Given the description of an element on the screen output the (x, y) to click on. 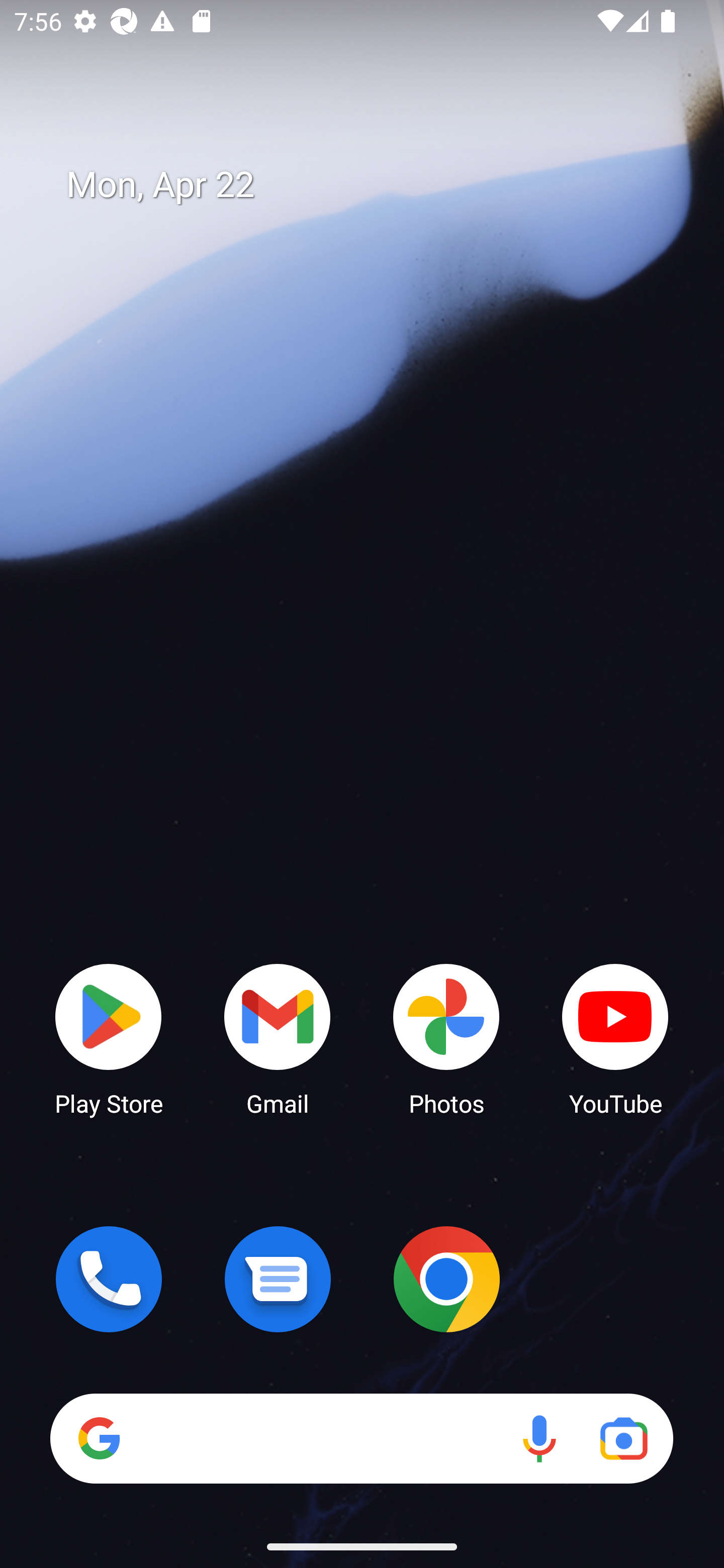
Mon, Apr 22 (375, 184)
Play Store (108, 1038)
Gmail (277, 1038)
Photos (445, 1038)
YouTube (615, 1038)
Phone (108, 1279)
Messages (277, 1279)
Chrome (446, 1279)
Search Voice search Google Lens (361, 1438)
Voice search (539, 1438)
Google Lens (623, 1438)
